Given the description of an element on the screen output the (x, y) to click on. 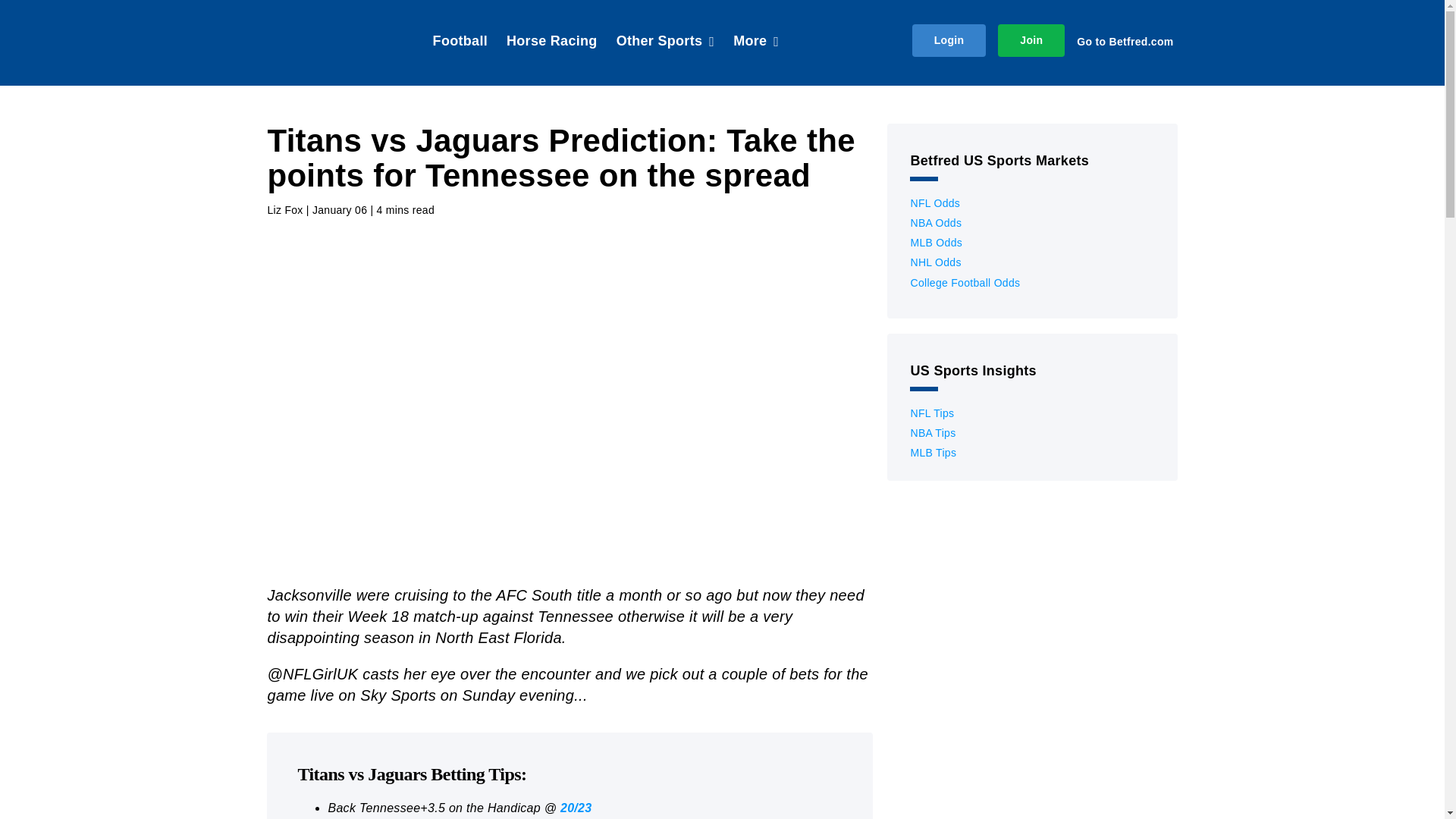
Other Sports (664, 41)
Liz Fox (284, 210)
Football (459, 41)
More (755, 41)
Go to Betfred.com (1126, 41)
Horse Racing (551, 41)
Login (949, 40)
Join (1030, 40)
